Given the description of an element on the screen output the (x, y) to click on. 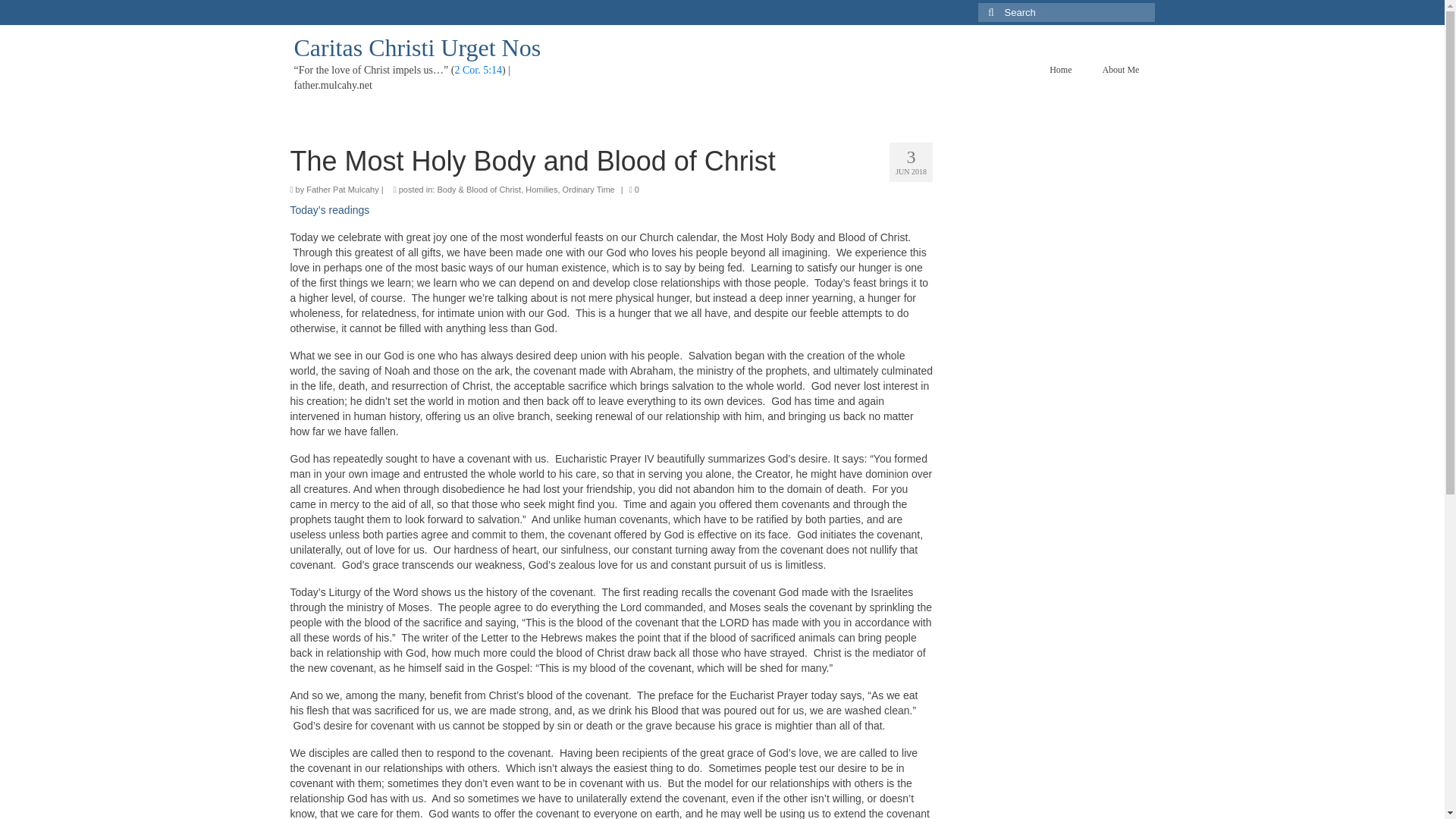
Home (1059, 69)
Ordinary Time (588, 189)
Father Pat Mulcahy (341, 189)
Caritas Christi Urget Nos (417, 47)
About Me (1120, 69)
Homilies (541, 189)
